Given the description of an element on the screen output the (x, y) to click on. 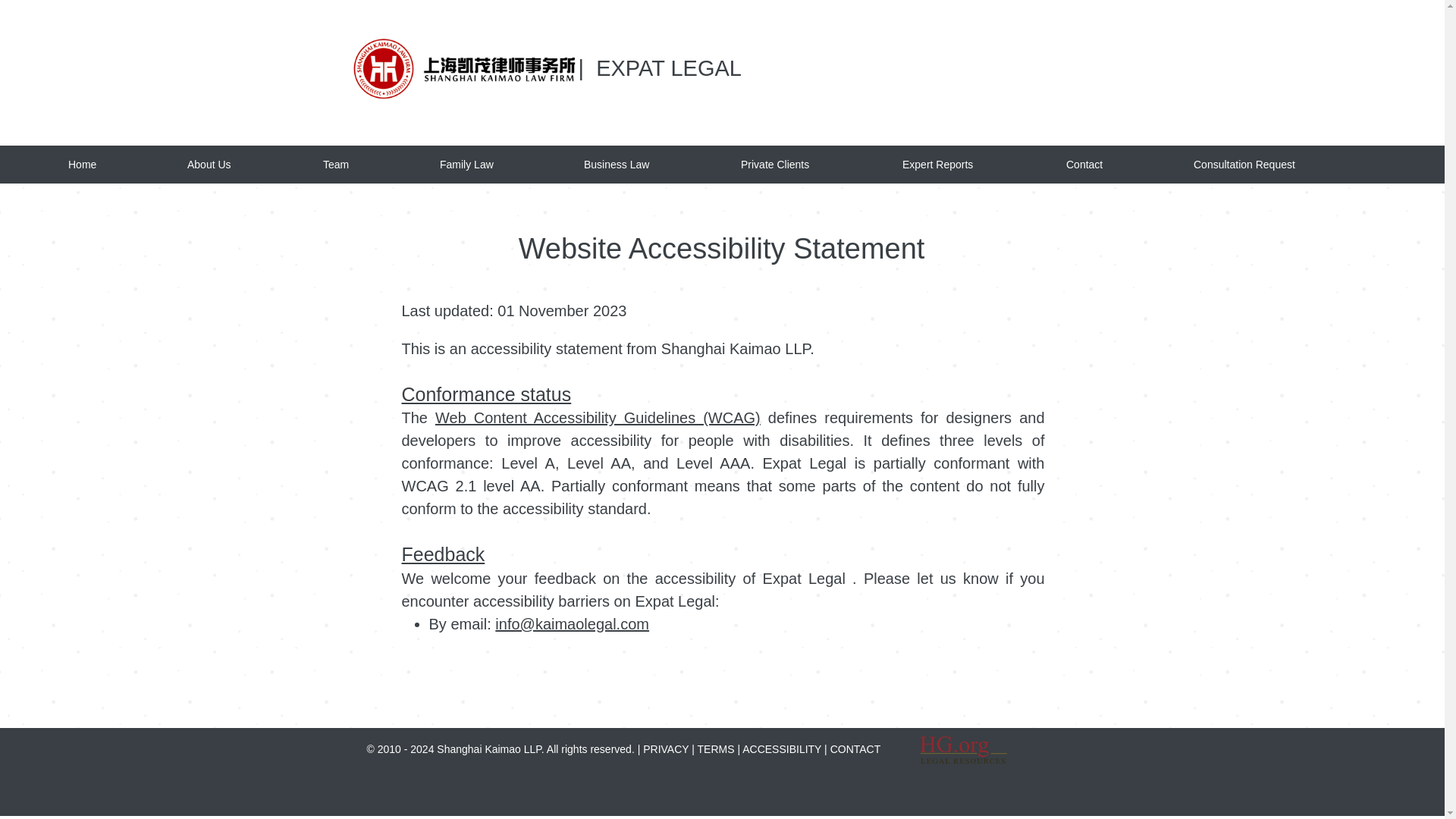
TERMS (716, 748)
Consultation Request (1285, 164)
About Us (247, 164)
Team (373, 164)
CONTACT (854, 748)
PRIVACY (667, 748)
Home (120, 164)
Contact (1122, 164)
Expert Reports (976, 164)
Private Clients (814, 164)
